Given the description of an element on the screen output the (x, y) to click on. 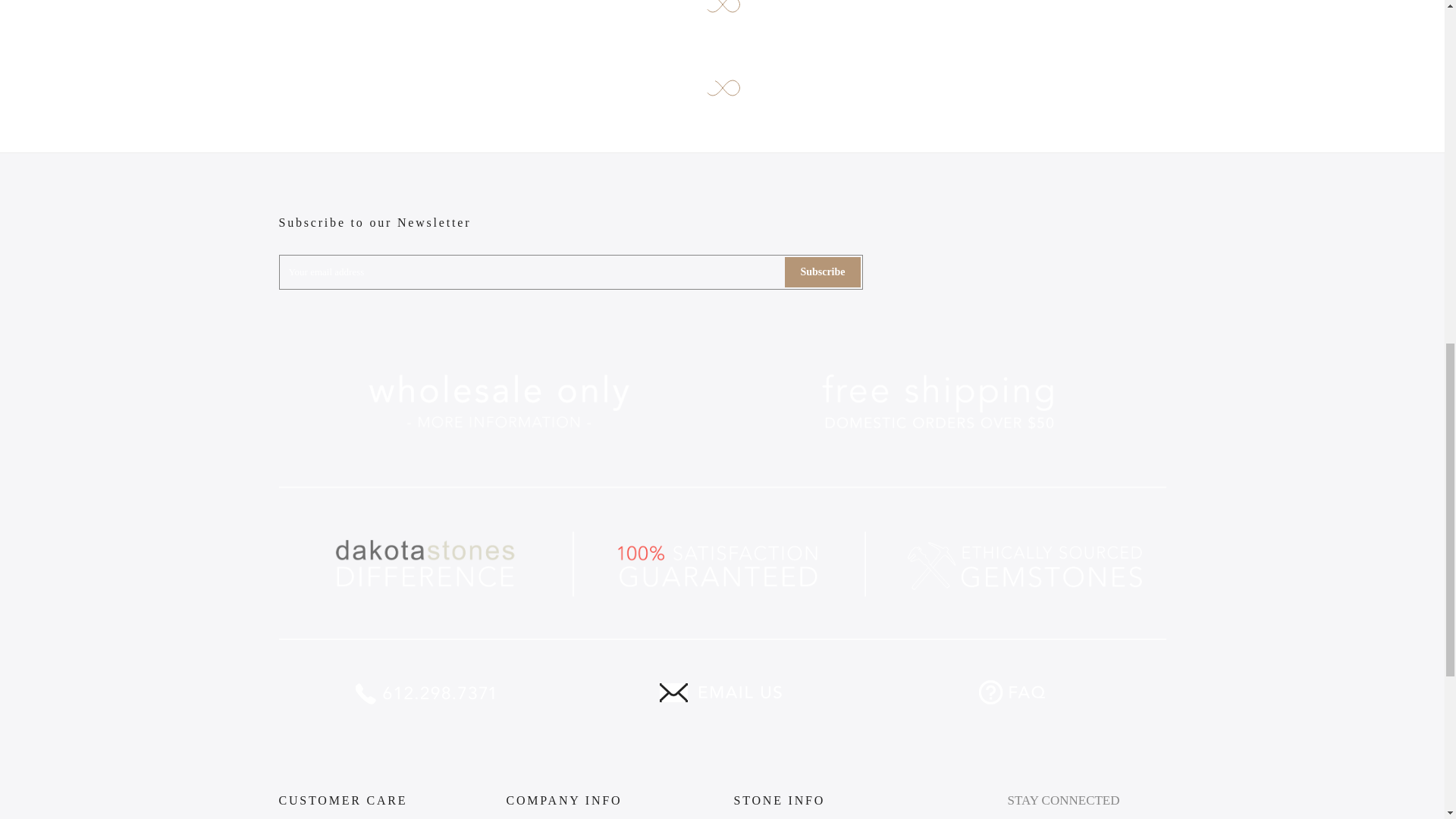
Subscribe (822, 272)
